Given the description of an element on the screen output the (x, y) to click on. 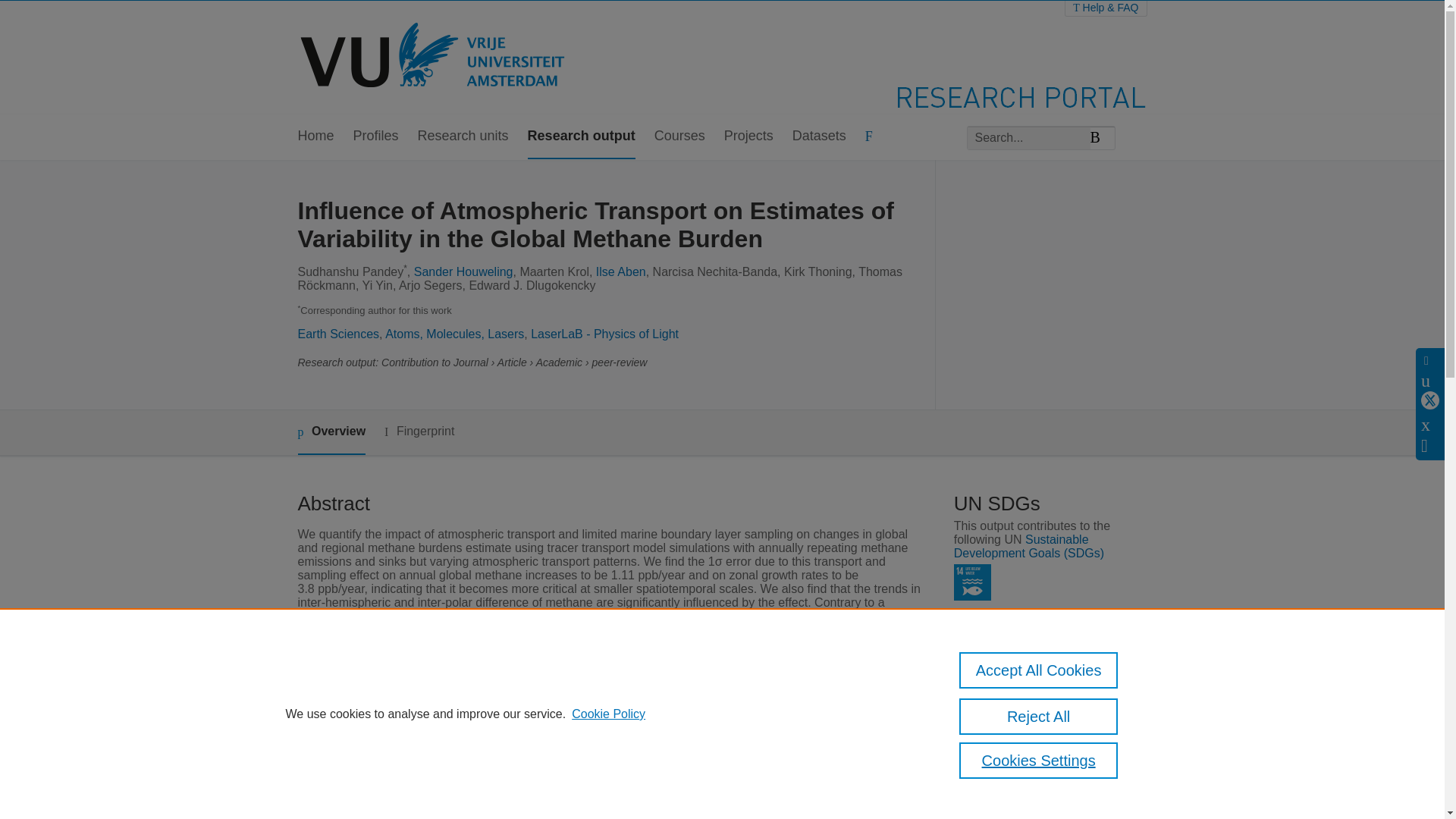
Earth Sciences (337, 333)
Atoms, Molecules, Lasers (454, 333)
Sander Houweling (463, 271)
Datasets (818, 136)
LaserLaB - Physics of Light (604, 333)
Geophysical Research Letters (589, 748)
Research units (462, 136)
Vrije Universiteit Amsterdam Home (433, 57)
Profiles (375, 136)
Research output (580, 136)
Fingerprint (419, 431)
Courses (678, 136)
link to citations in Scopus (1036, 807)
Ilse Aben (620, 271)
